Given the description of an element on the screen output the (x, y) to click on. 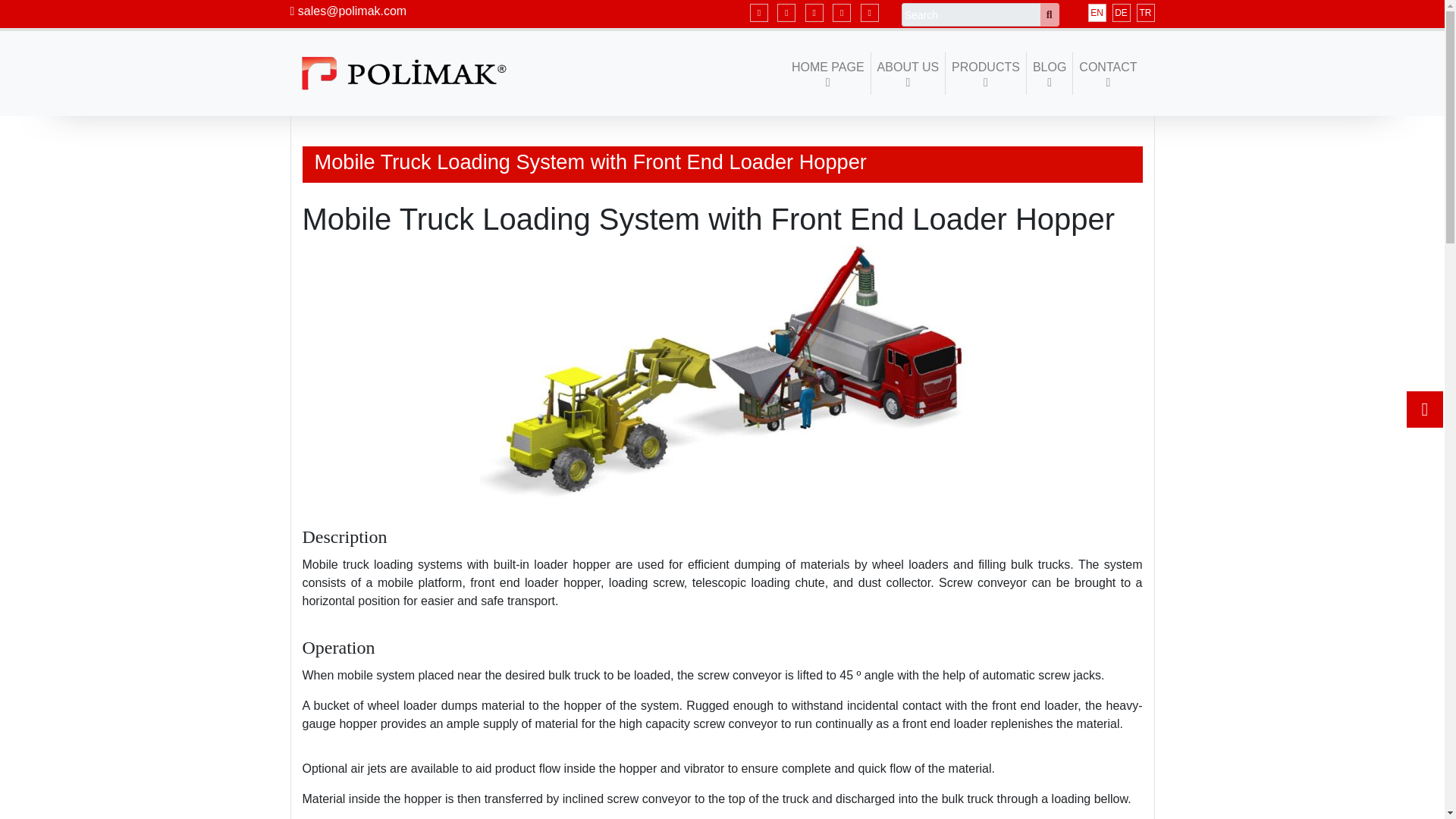
EN (1096, 13)
PRODUCTS (985, 73)
BLOG (1049, 73)
ABOUT US (908, 73)
Mobile Truck Loading System with Front End Loader Hopper (721, 372)
DE (1120, 13)
CONTACT (1107, 73)
HOME PAGE (828, 73)
TR (1144, 13)
